Given the description of an element on the screen output the (x, y) to click on. 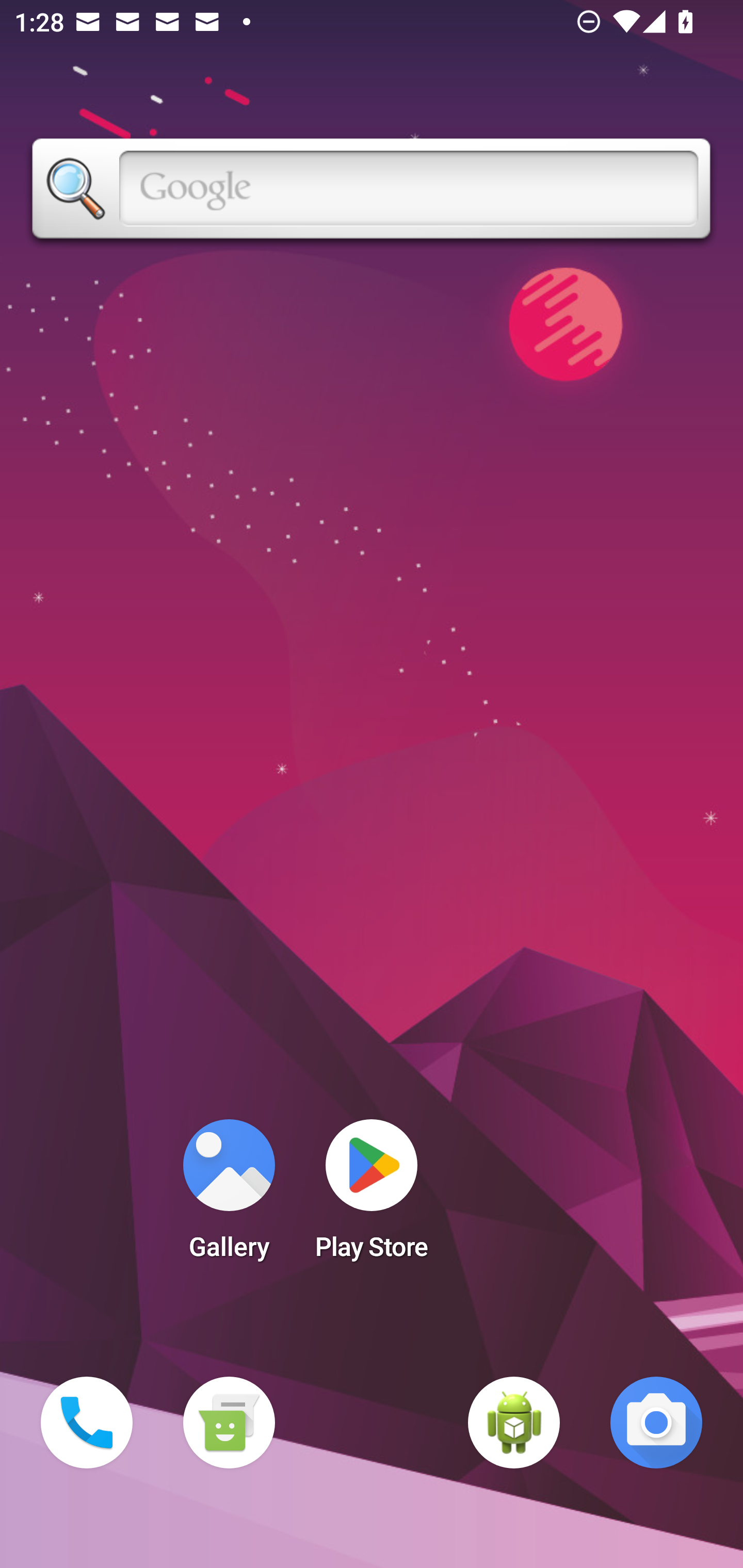
Gallery (228, 1195)
Play Store (371, 1195)
Phone (86, 1422)
Messaging (228, 1422)
WebView Browser Tester (513, 1422)
Camera (656, 1422)
